Given the description of an element on the screen output the (x, y) to click on. 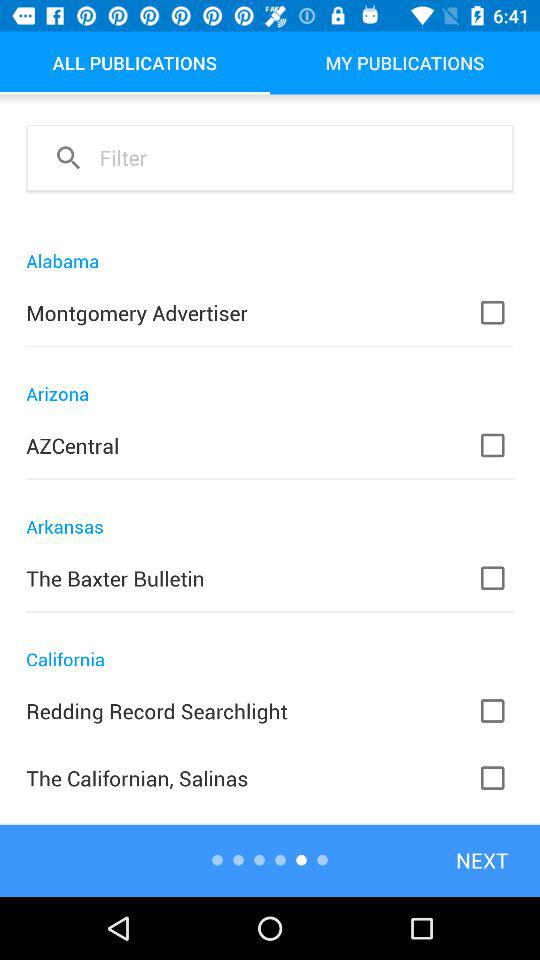
select last check box (505, 777)
click on the search button (67, 157)
click the check box azcentral (505, 445)
